Given the description of an element on the screen output the (x, y) to click on. 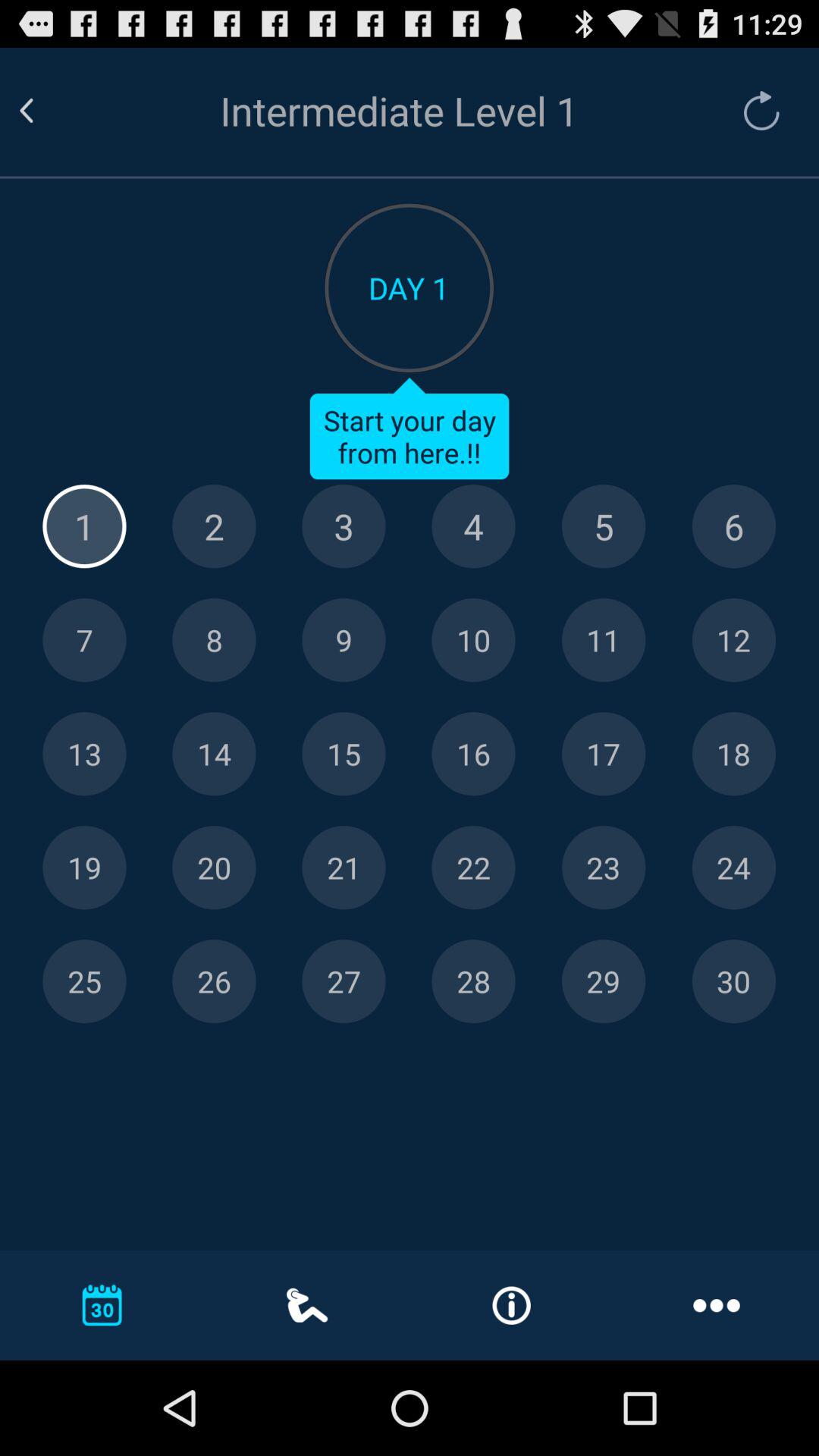
click on the digit after five (733, 525)
click on the icon top right corner (754, 110)
select refresh icon which is at the top right side of the page (761, 110)
click on the callender icon which is at the bottom left corner (102, 1304)
